Given the description of an element on the screen output the (x, y) to click on. 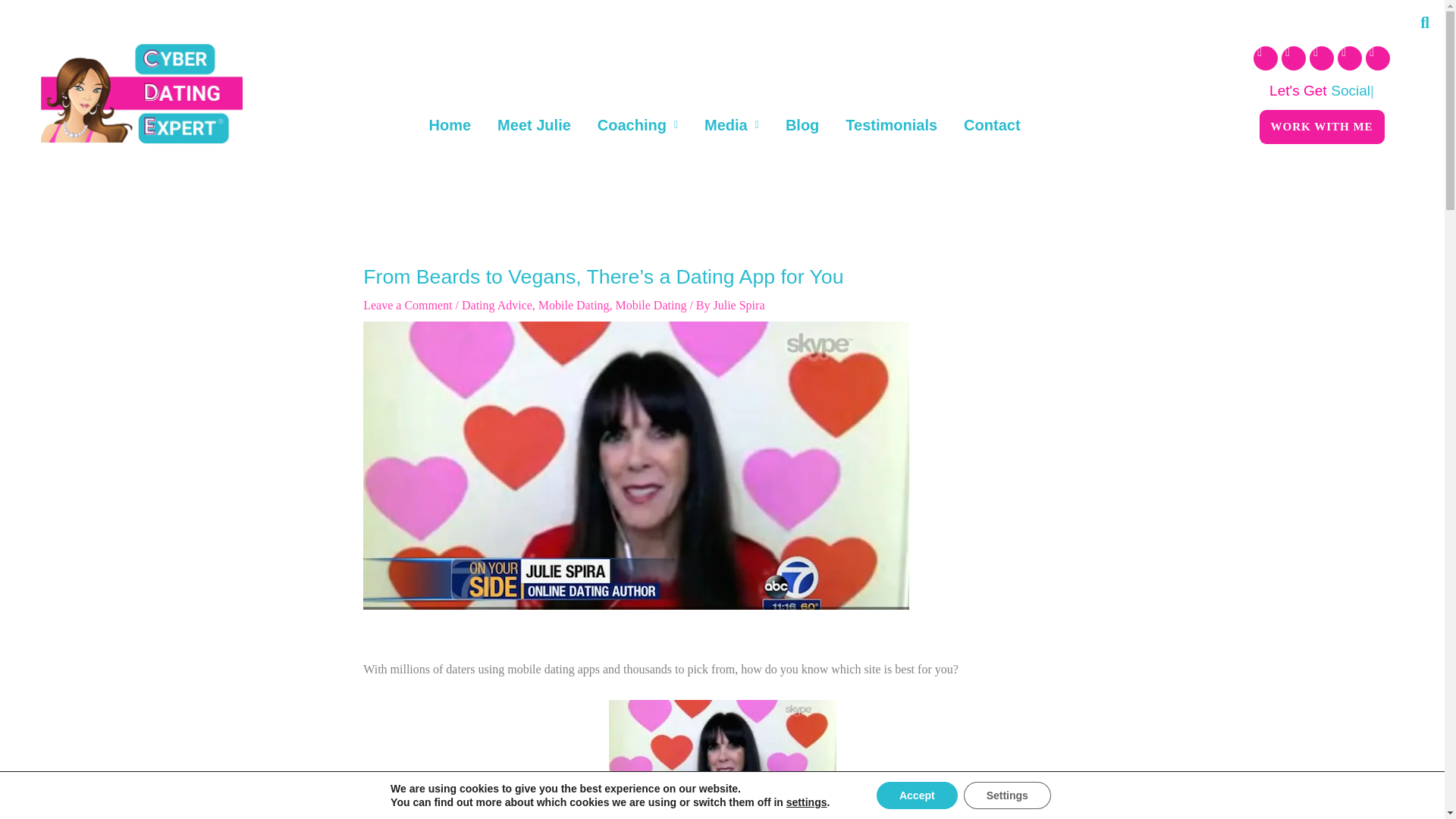
Search (1417, 22)
View all posts by Julie Spira (738, 305)
